Given the description of an element on the screen output the (x, y) to click on. 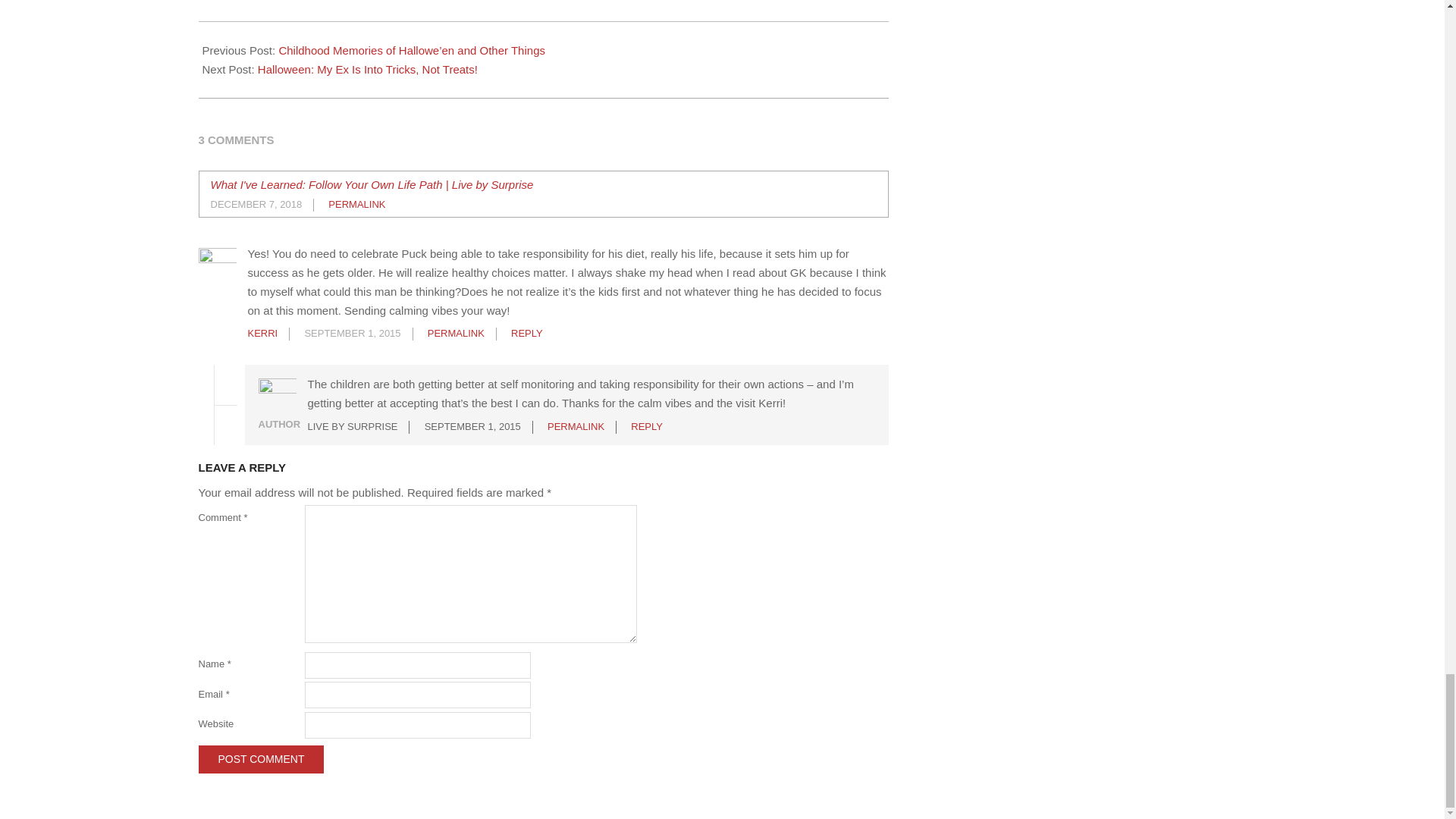
Friday, December 7, 2018, 5:51 pm (256, 204)
Tuesday, September 1, 2015, 1:57 pm (352, 333)
Tuesday, September 1, 2015, 2:20 pm (473, 426)
Post Comment (261, 759)
